Given the description of an element on the screen output the (x, y) to click on. 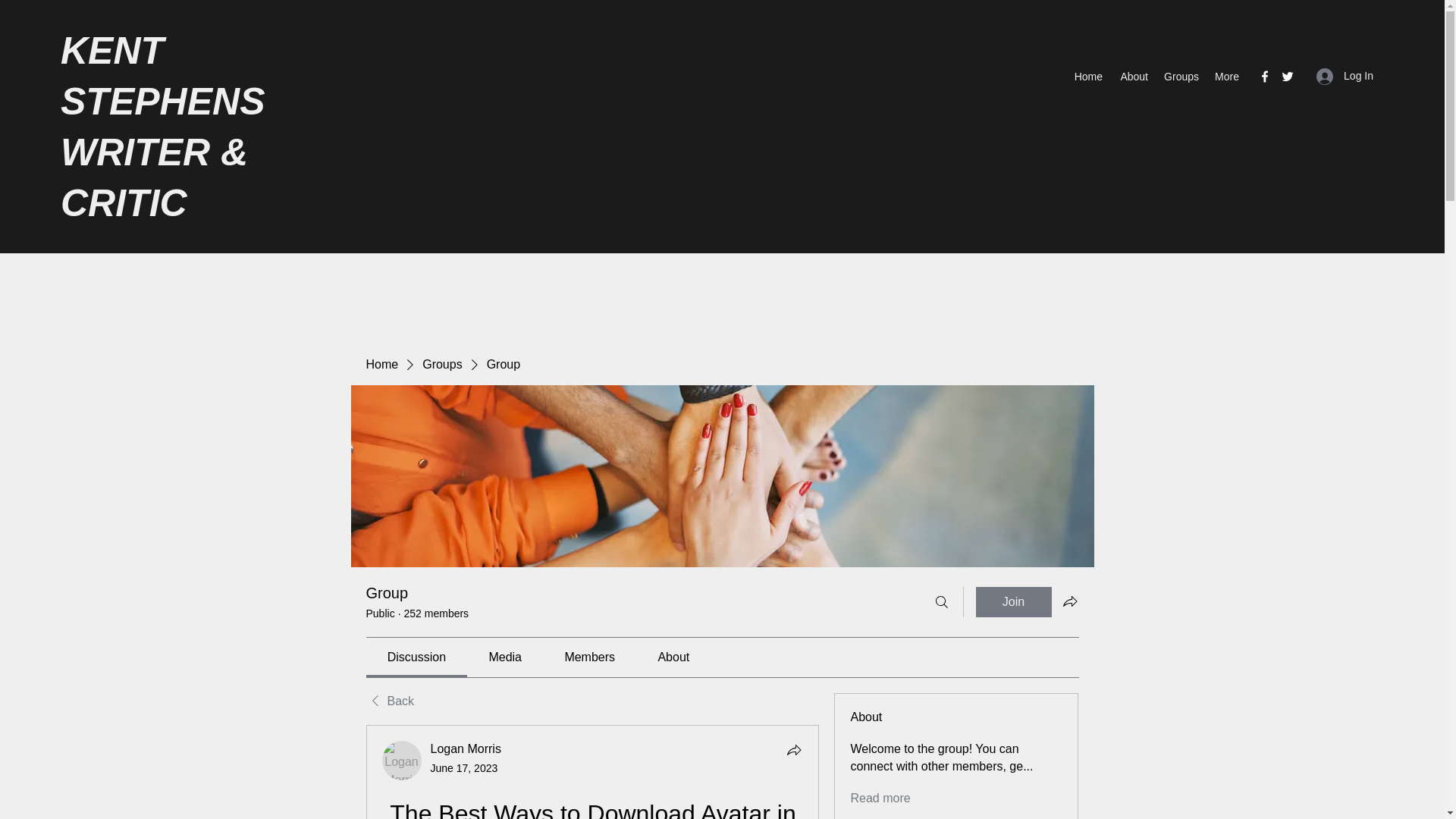
Logan Morris (465, 748)
Log In (1345, 76)
Home (381, 364)
Home (1087, 76)
Groups (1181, 76)
Logan Morris (401, 760)
Join (1013, 602)
Back (389, 701)
About (1132, 76)
June 17, 2023 (463, 767)
Read more (880, 798)
Groups (441, 364)
